Given the description of an element on the screen output the (x, y) to click on. 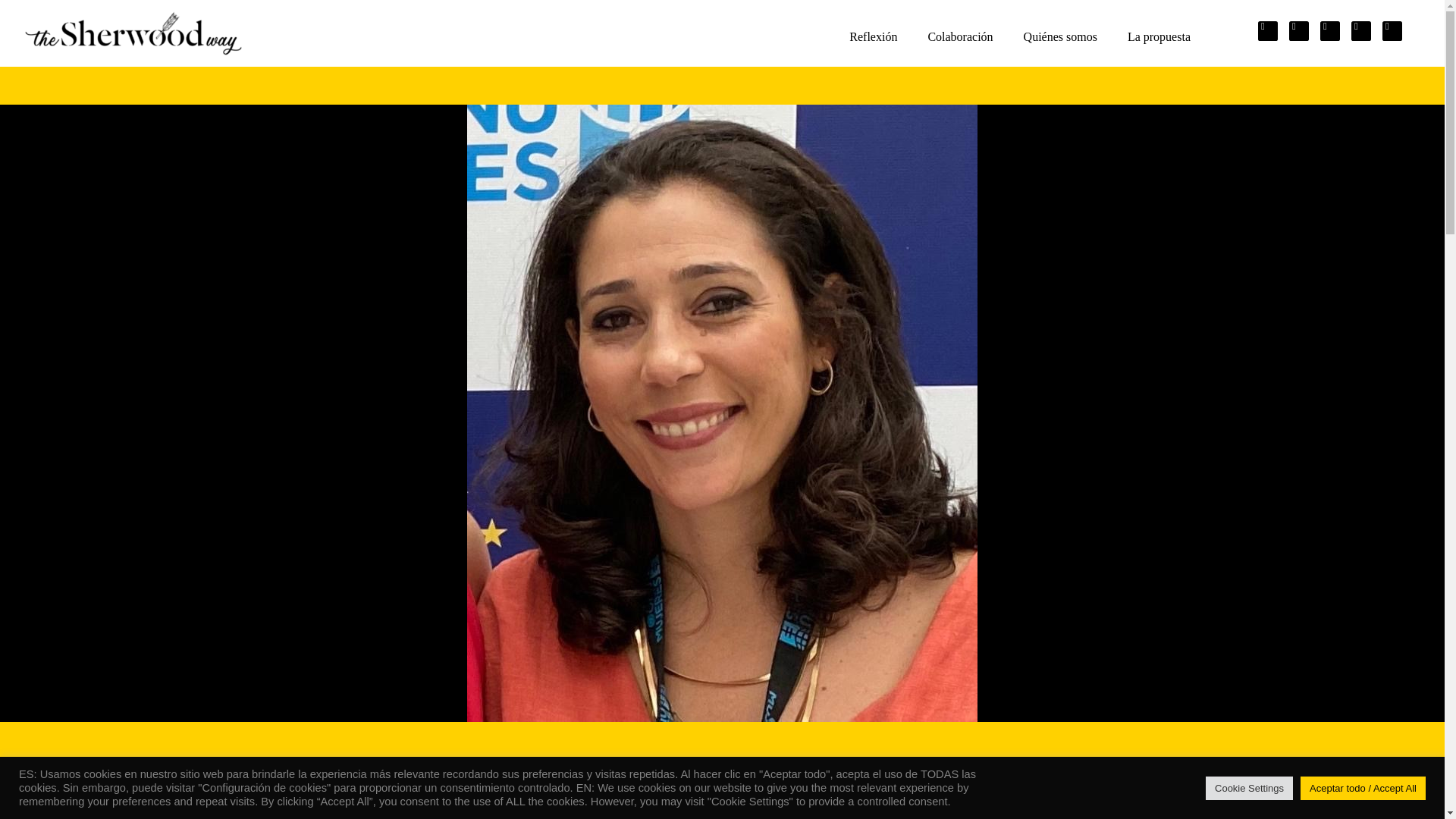
La propuesta (1158, 36)
